Given the description of an element on the screen output the (x, y) to click on. 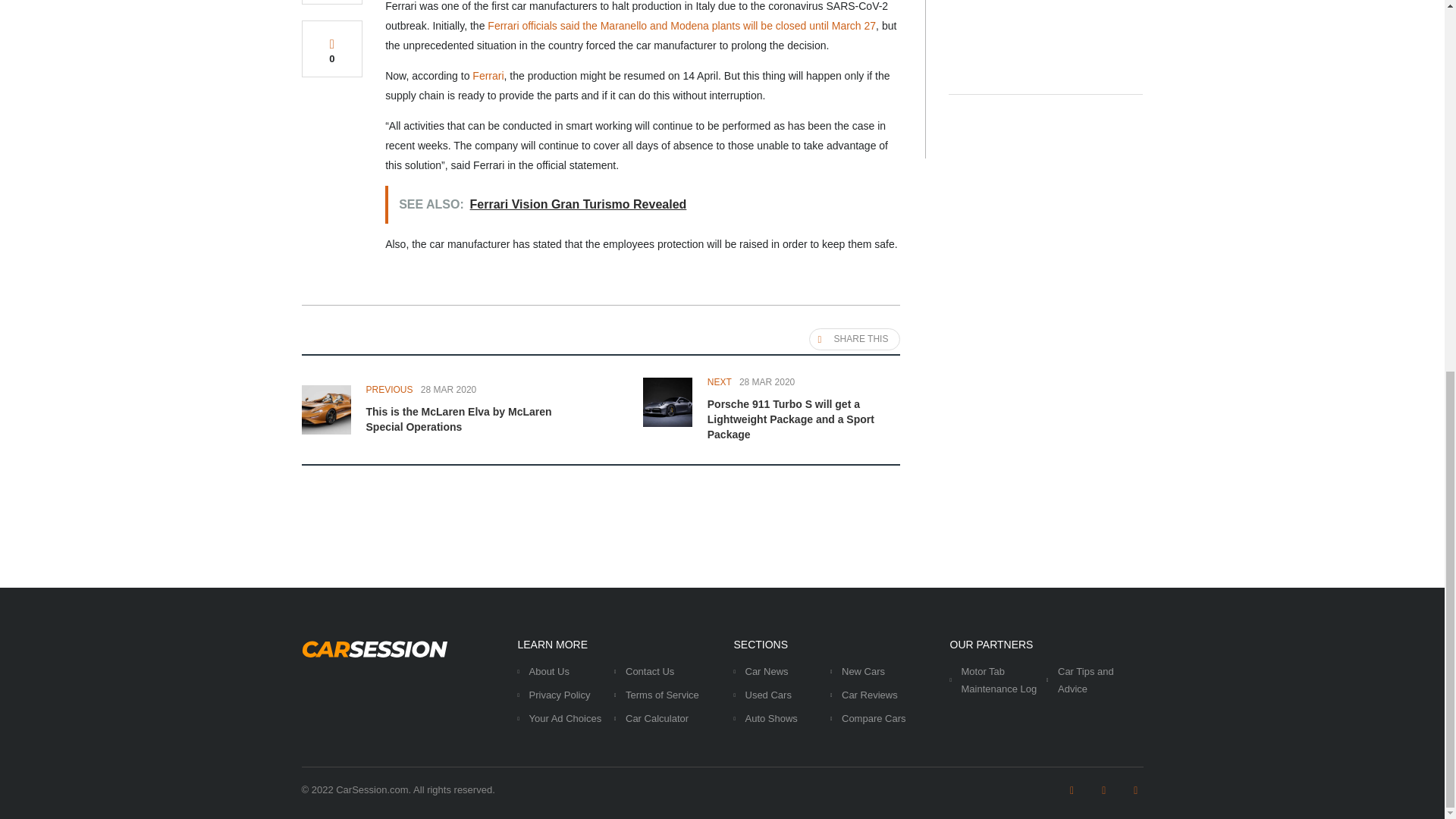
Auto Shows (770, 717)
Contact Us (650, 671)
Motor Tab Maintenance Log (998, 679)
Share this (855, 339)
Advertisement (1045, 31)
Car Reviews (869, 695)
Car News (765, 671)
SHARE THIS (855, 339)
Your Ad Choices (565, 717)
Compare Cars (873, 717)
About Us (549, 671)
Car Calculator (657, 717)
